Given the description of an element on the screen output the (x, y) to click on. 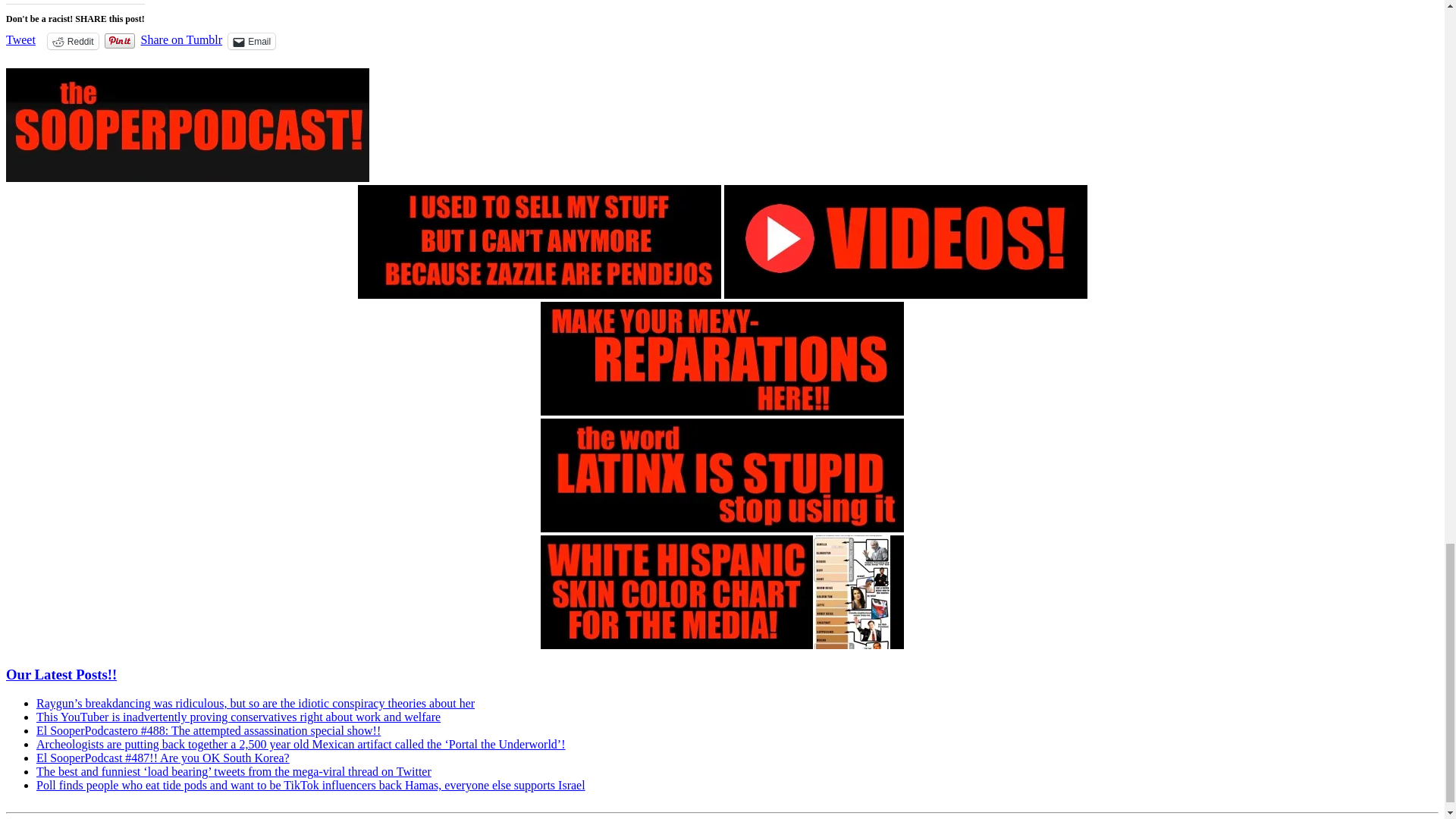
Tweet (19, 39)
Email (251, 41)
Share on Tumblr (181, 39)
Share on Tumblr (181, 39)
Reddit (73, 41)
Click to email a link to a friend (251, 41)
Click to share on Reddit (73, 41)
